Given the description of an element on the screen output the (x, y) to click on. 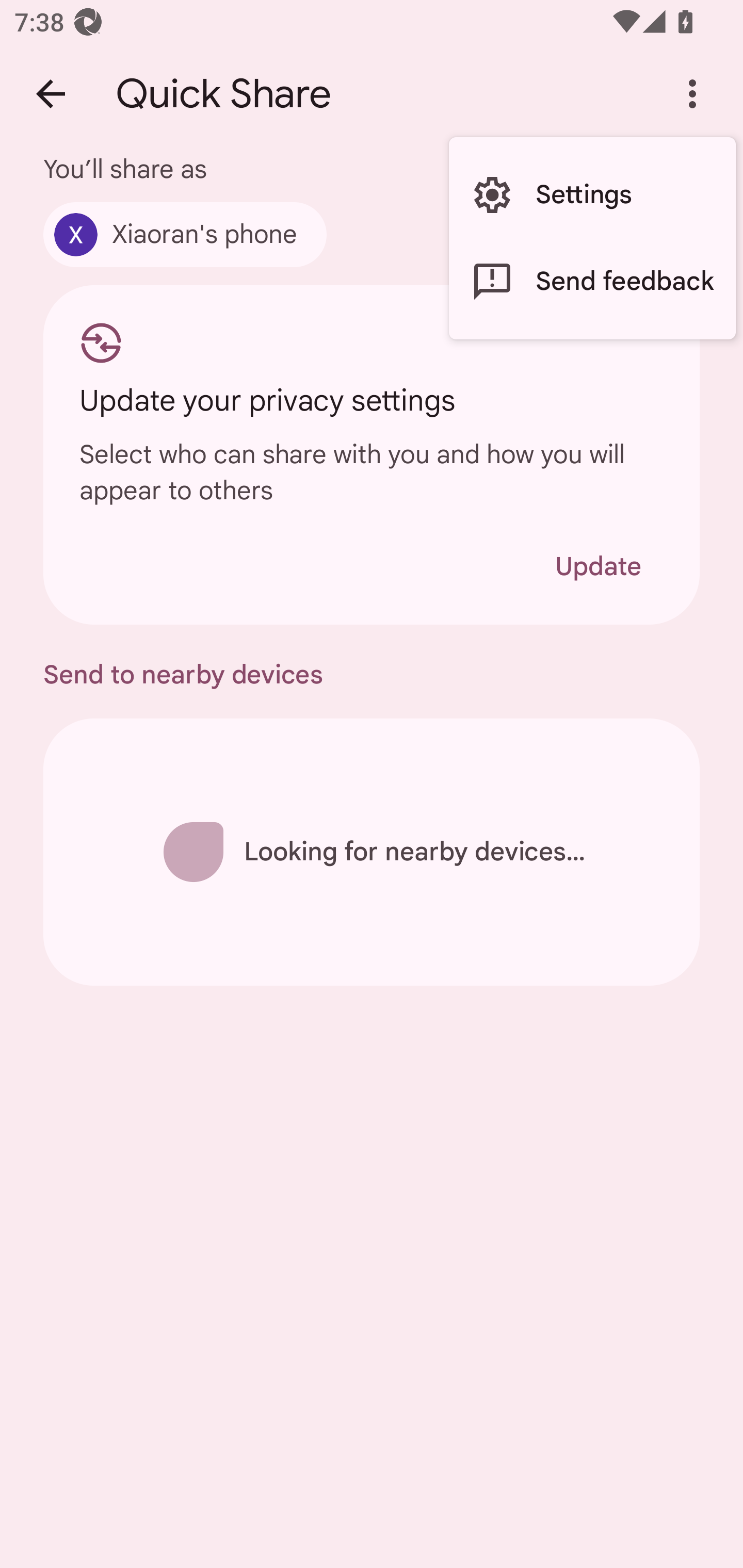
Settings (591, 195)
Send feedback (591, 281)
